Given the description of an element on the screen output the (x, y) to click on. 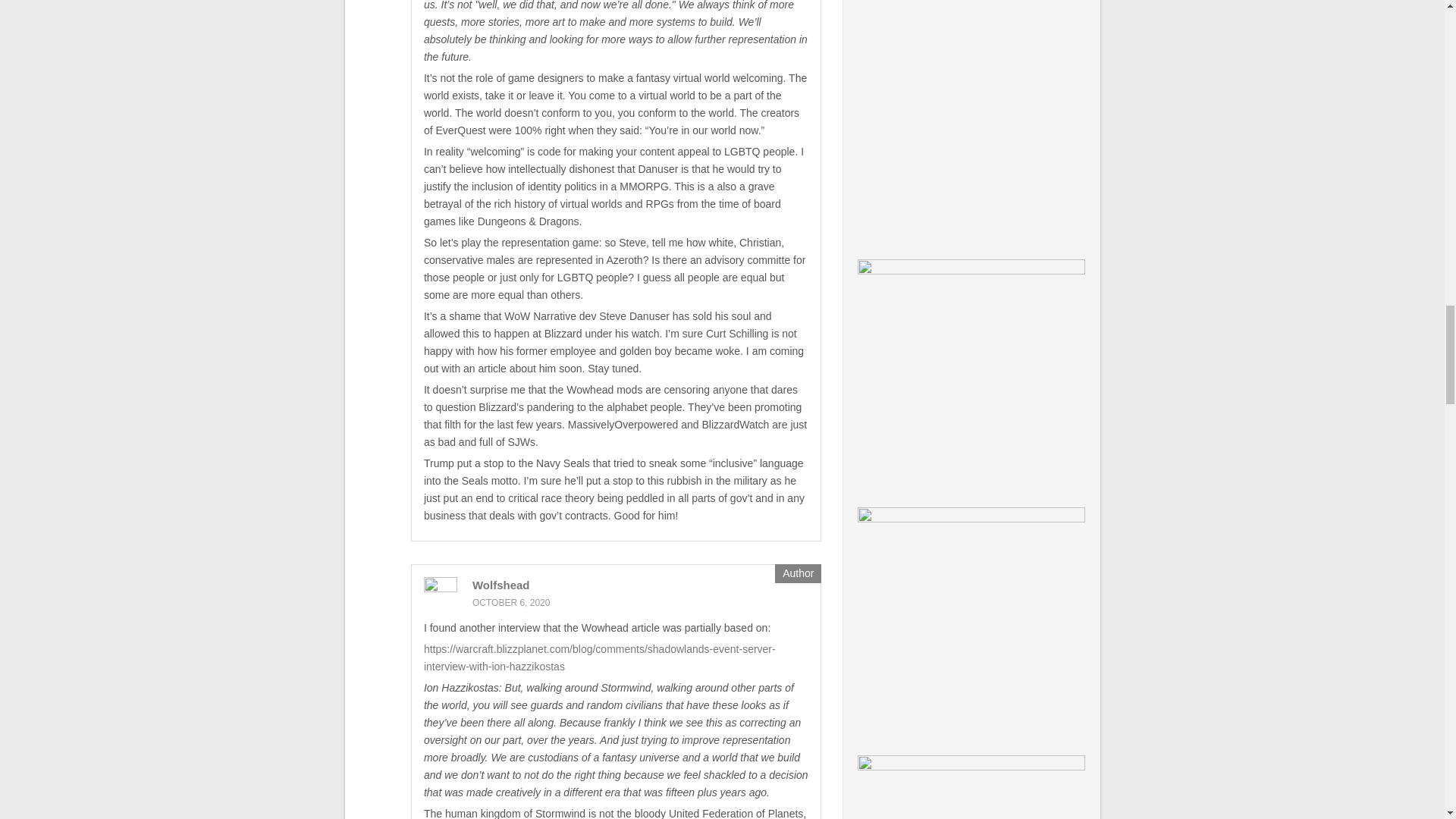
Wolfshead (500, 584)
